Given the description of an element on the screen output the (x, y) to click on. 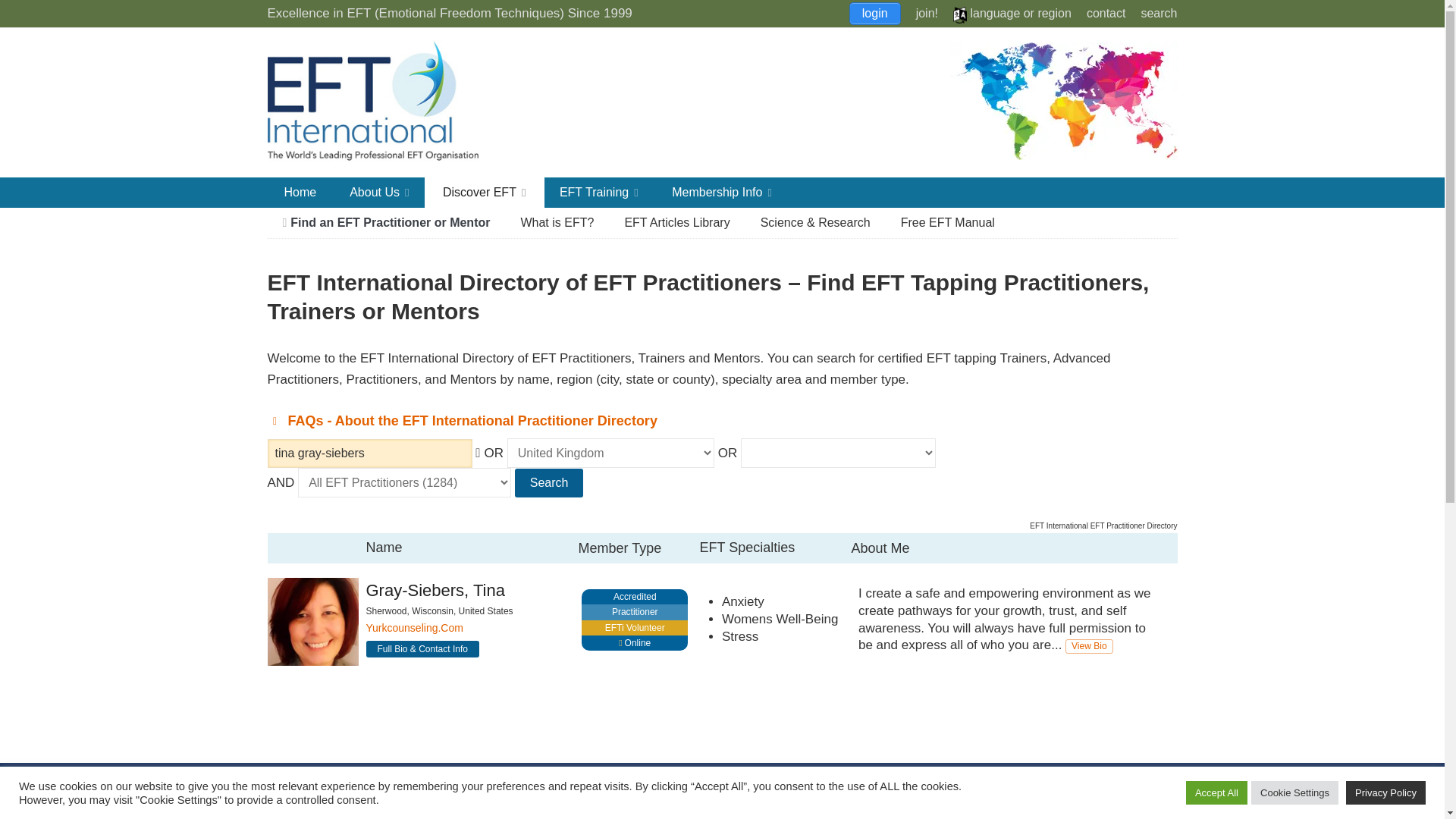
search (1158, 12)
About Us (379, 192)
tina gray-siebers (368, 452)
Discover EFT (484, 192)
contact (1105, 12)
Free EFT Manual (947, 223)
language or region (1012, 12)
Home (299, 192)
EFT Articles Library (676, 223)
join! (926, 12)
